Given the description of an element on the screen output the (x, y) to click on. 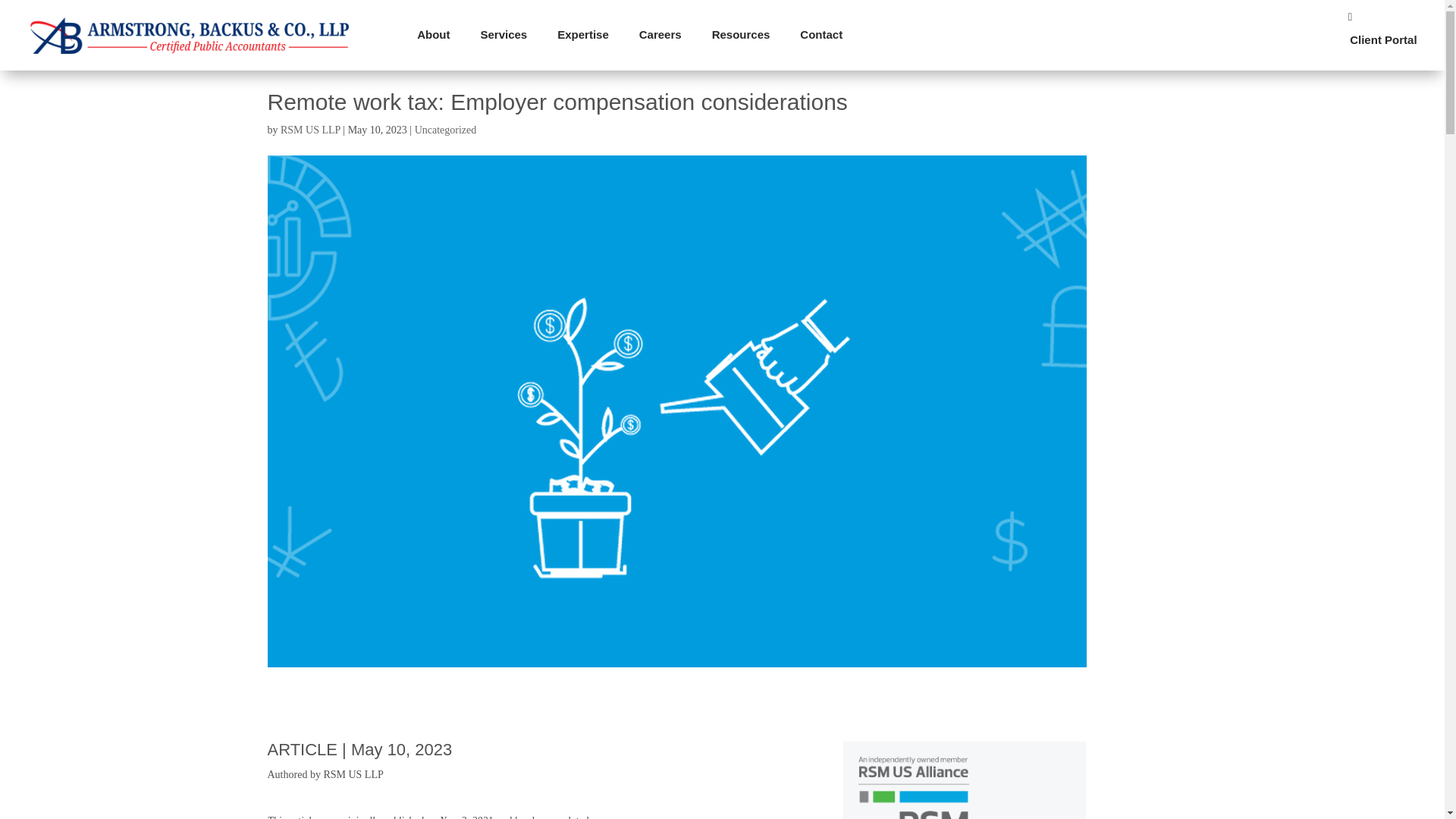
Resources (741, 35)
Expertise (582, 35)
Services (502, 35)
About (432, 35)
Careers (660, 35)
Contact (820, 35)
RSM US Alliance Logo Stacked RGB (914, 787)
Posts by RSM US LLP (310, 129)
